Given the description of an element on the screen output the (x, y) to click on. 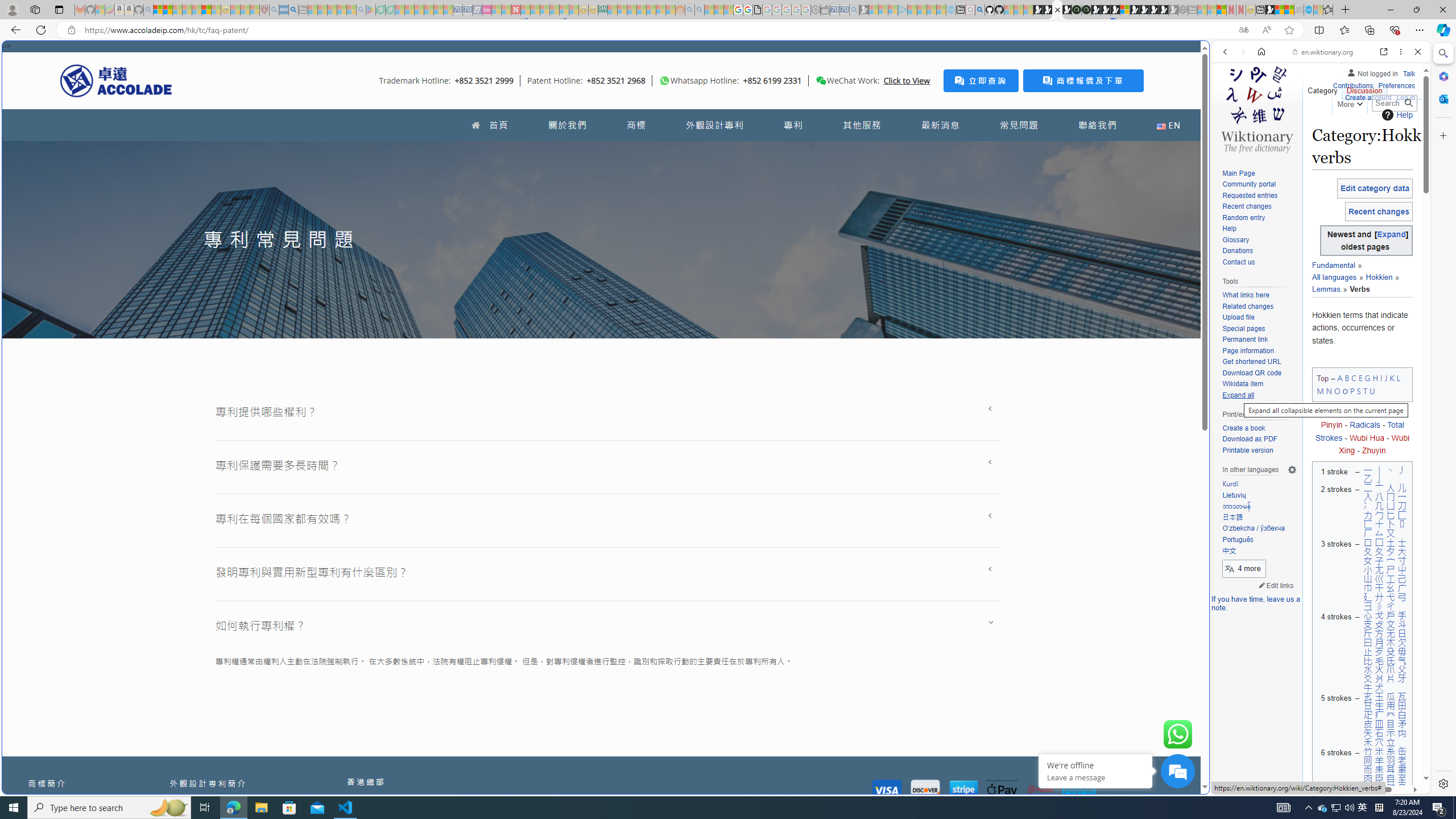
Hokkien (1379, 276)
O (1336, 390)
Lemmas (1325, 288)
Bluey: Let's Play! - Apps on Google Play - Sleeping (370, 9)
Requested entries (1259, 196)
Page information (1247, 350)
